Given the description of an element on the screen output the (x, y) to click on. 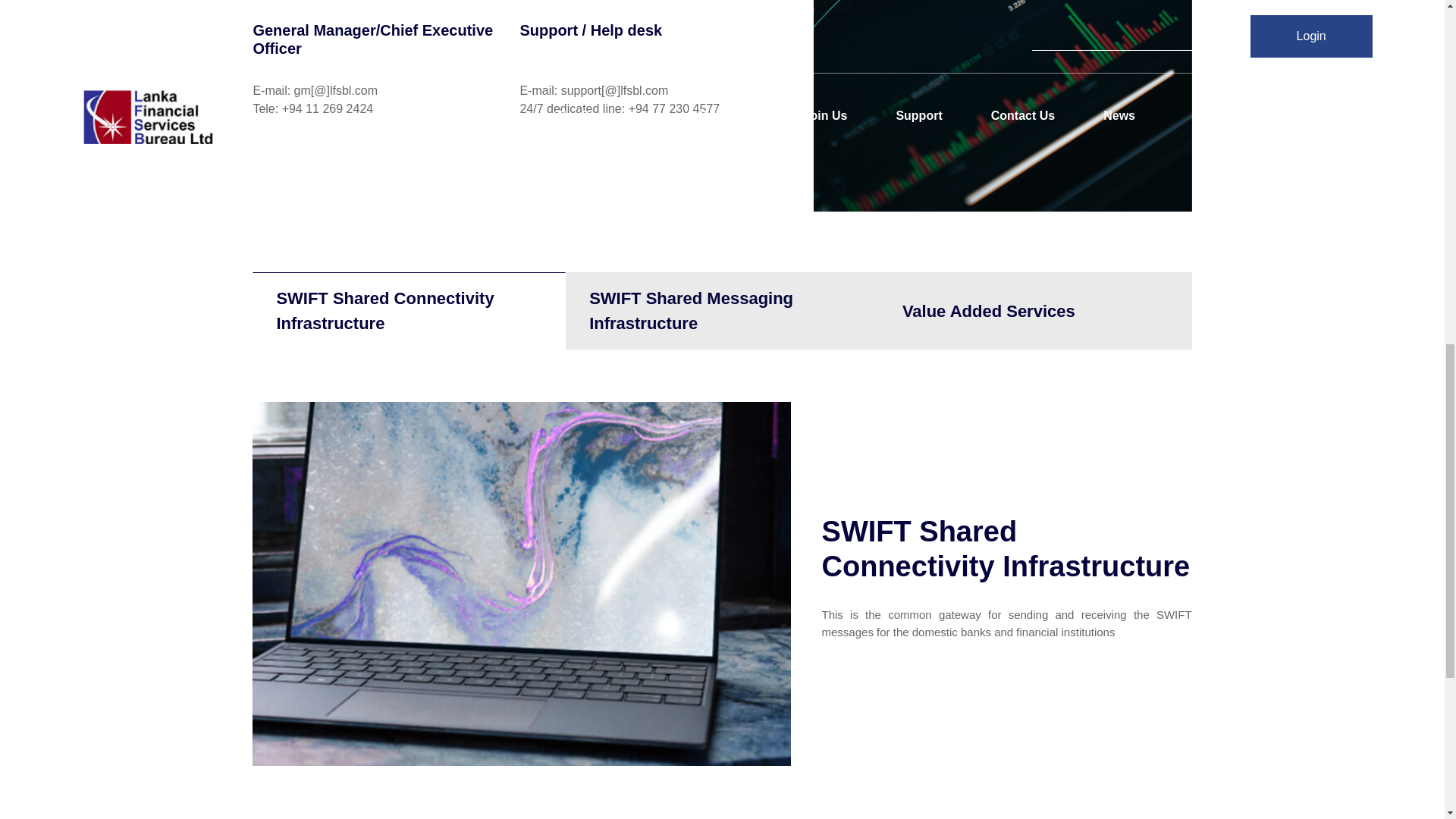
Value Added Services (1035, 310)
SWIFT Shared Messaging Infrastructure (722, 310)
SWIFT Shared Connectivity Infrastructure (408, 310)
